Given the description of an element on the screen output the (x, y) to click on. 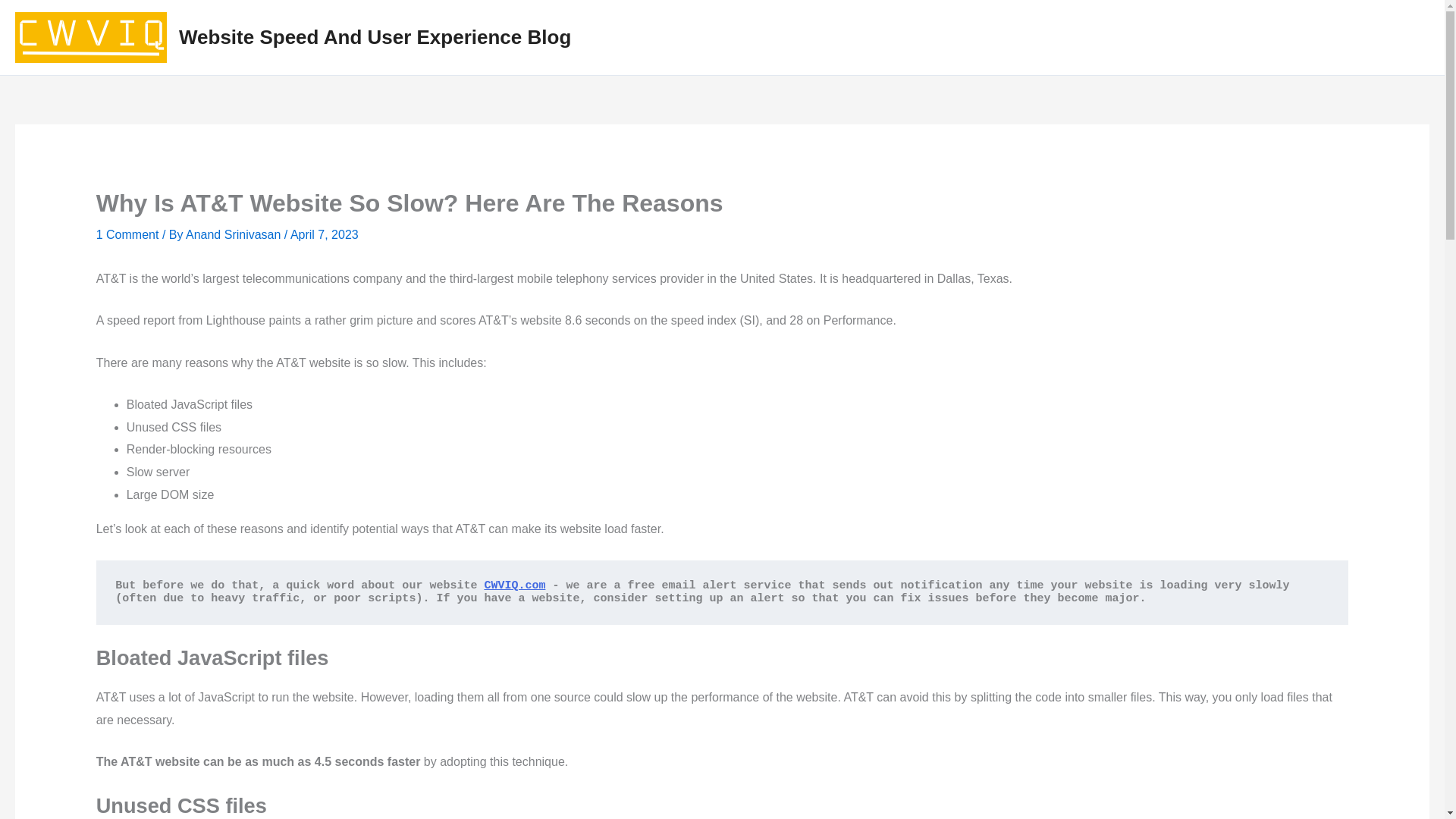
CWVIQ.com (513, 585)
View all posts by Anand Srinivasan (234, 234)
1 Comment (127, 234)
Website Speed And User Experience Blog (374, 36)
Anand Srinivasan (234, 234)
